Given the description of an element on the screen output the (x, y) to click on. 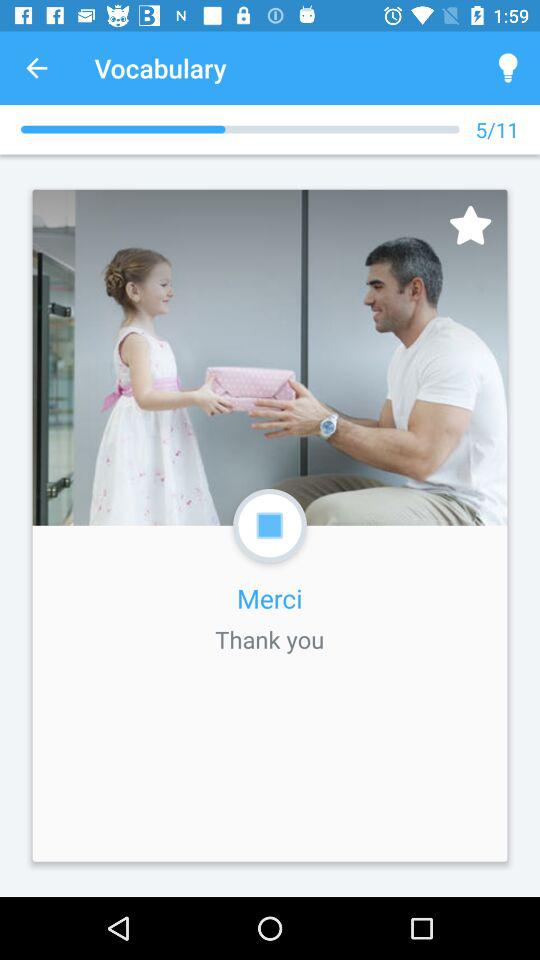
turn on the icon next to vocabulary item (36, 68)
